Given the description of an element on the screen output the (x, y) to click on. 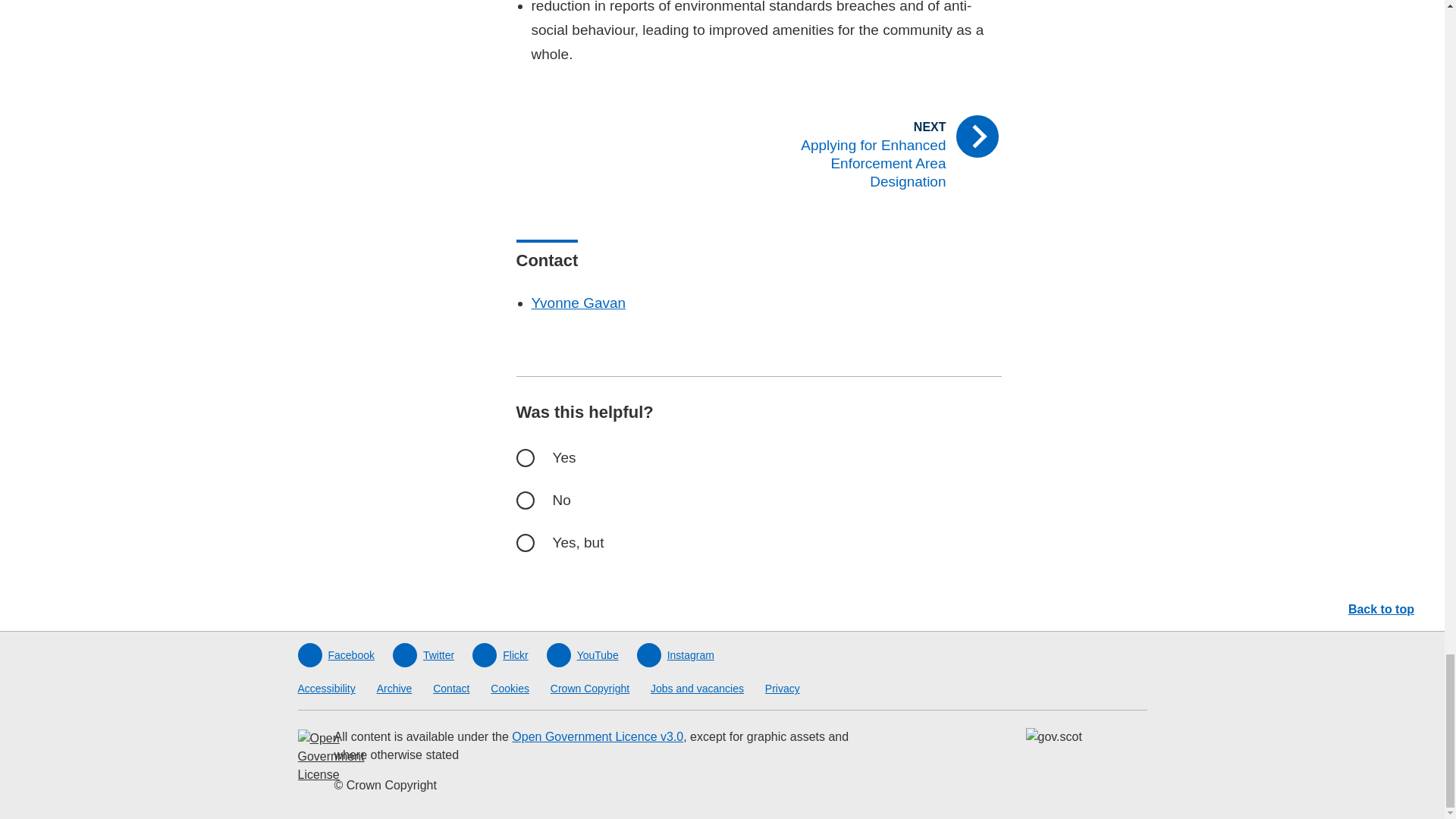
YouTube (582, 654)
Twitter (423, 654)
Next page (885, 153)
Instagram (675, 654)
Facebook (335, 654)
Yvonne Gavan (578, 302)
Applying for Enhanced Enforcement Area Designation (885, 153)
Flickr (499, 654)
